Given the description of an element on the screen output the (x, y) to click on. 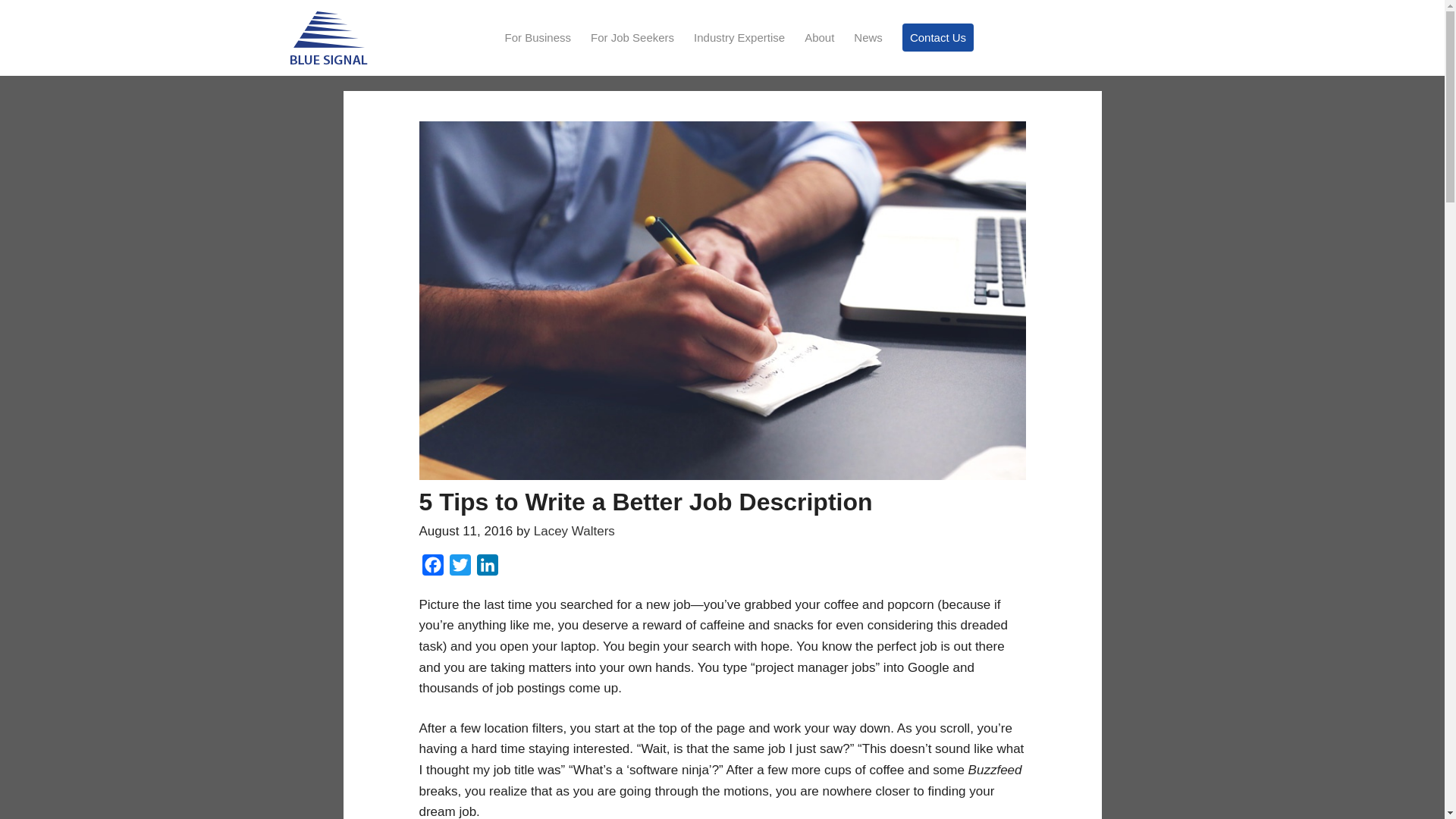
Twitter (459, 568)
LinkedIn (486, 568)
Industry Expertise (739, 38)
Facebook (432, 568)
For Job Seekers (632, 38)
Blue Signal Search (327, 38)
For Business (537, 38)
